Given the description of an element on the screen output the (x, y) to click on. 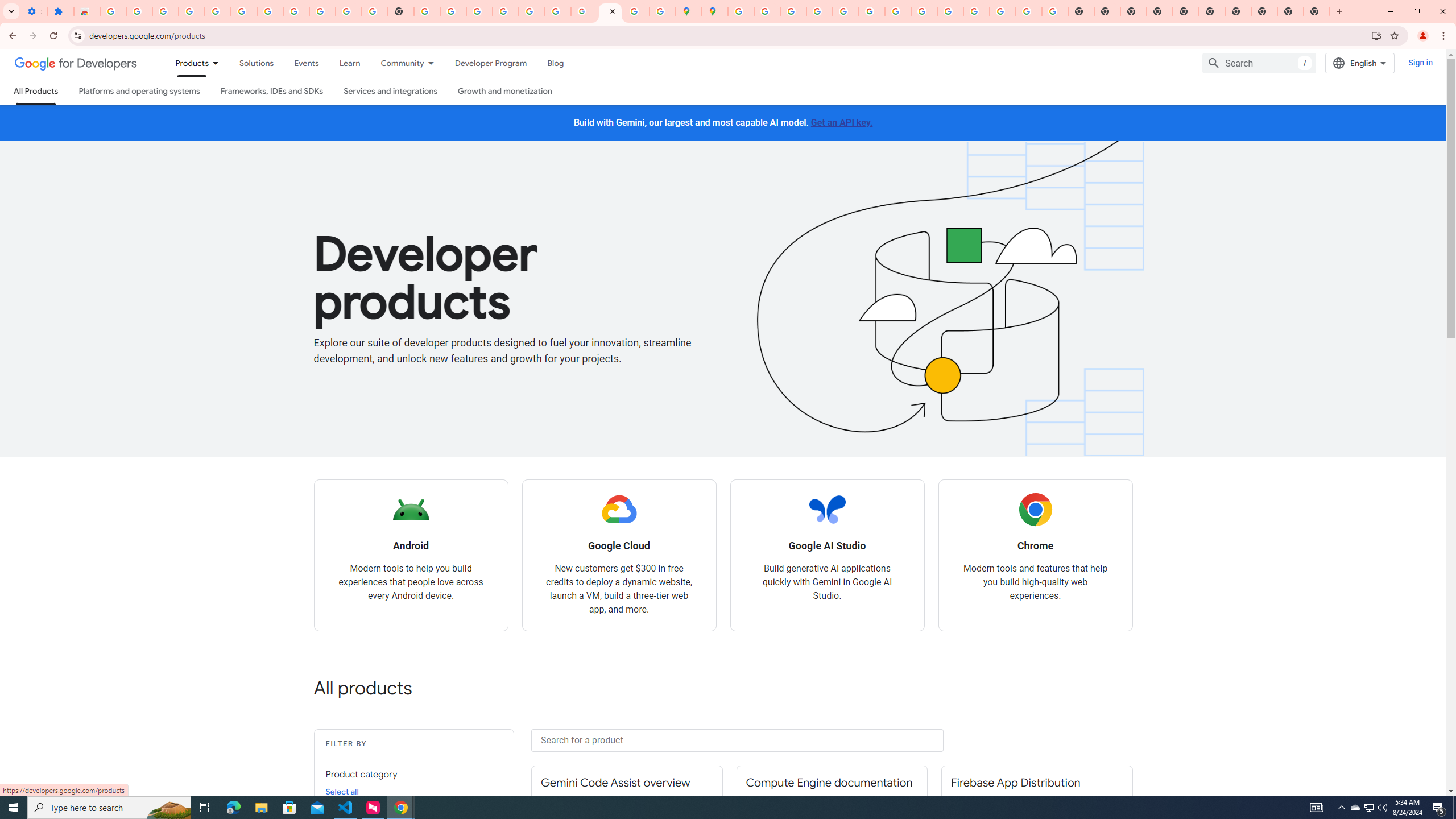
Delete photos & videos - Computer - Google Photos Help (191, 11)
Growth and monetization (504, 90)
Google Account (322, 11)
Services and integrations (390, 90)
